Given the description of an element on the screen output the (x, y) to click on. 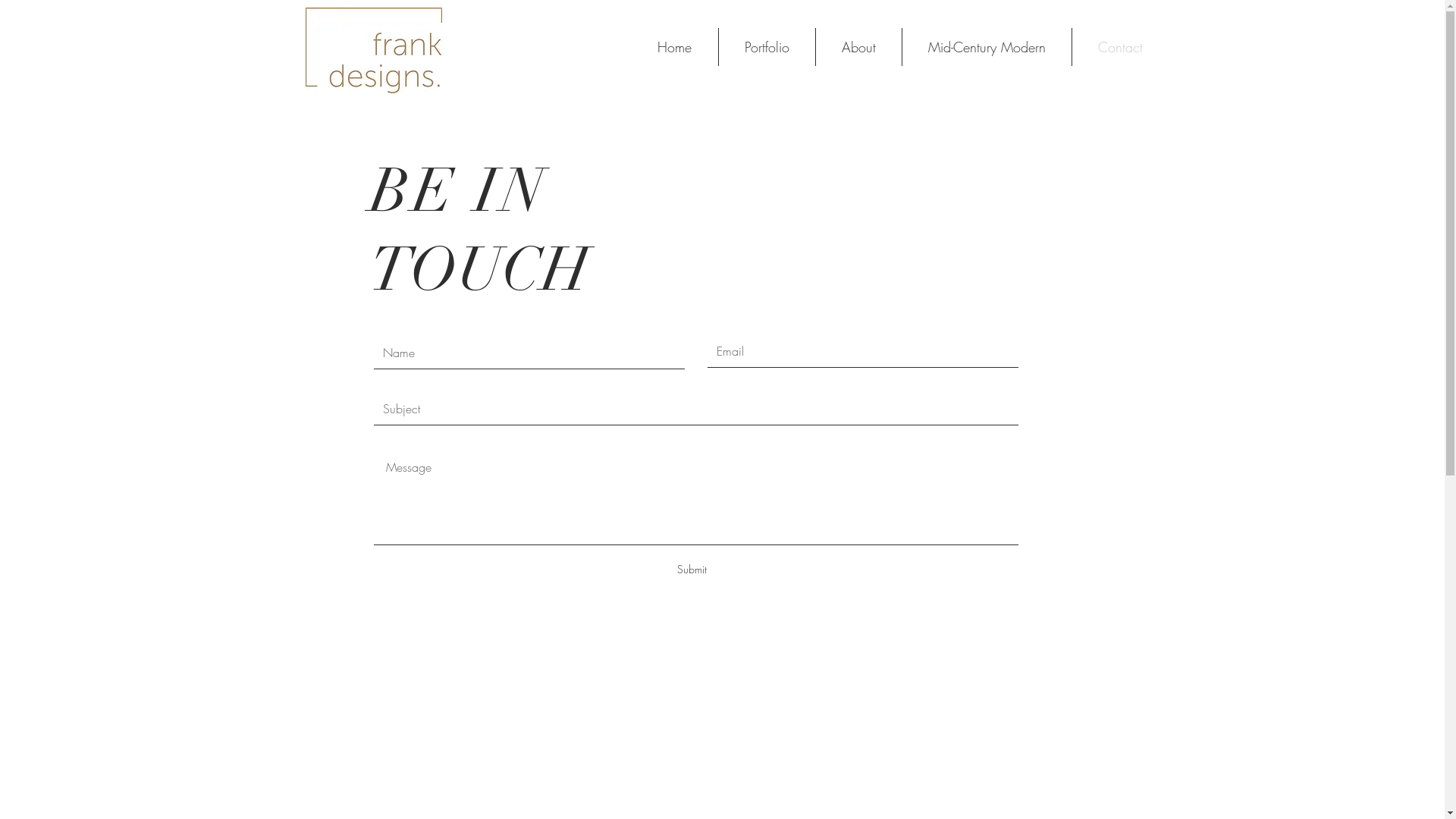
Mid-Century Modern Element type: text (985, 46)
Portfolio Element type: text (765, 46)
Home Element type: text (673, 46)
Contact Element type: text (1118, 46)
About Element type: text (857, 46)
Submit Element type: text (692, 569)
